Given the description of an element on the screen output the (x, y) to click on. 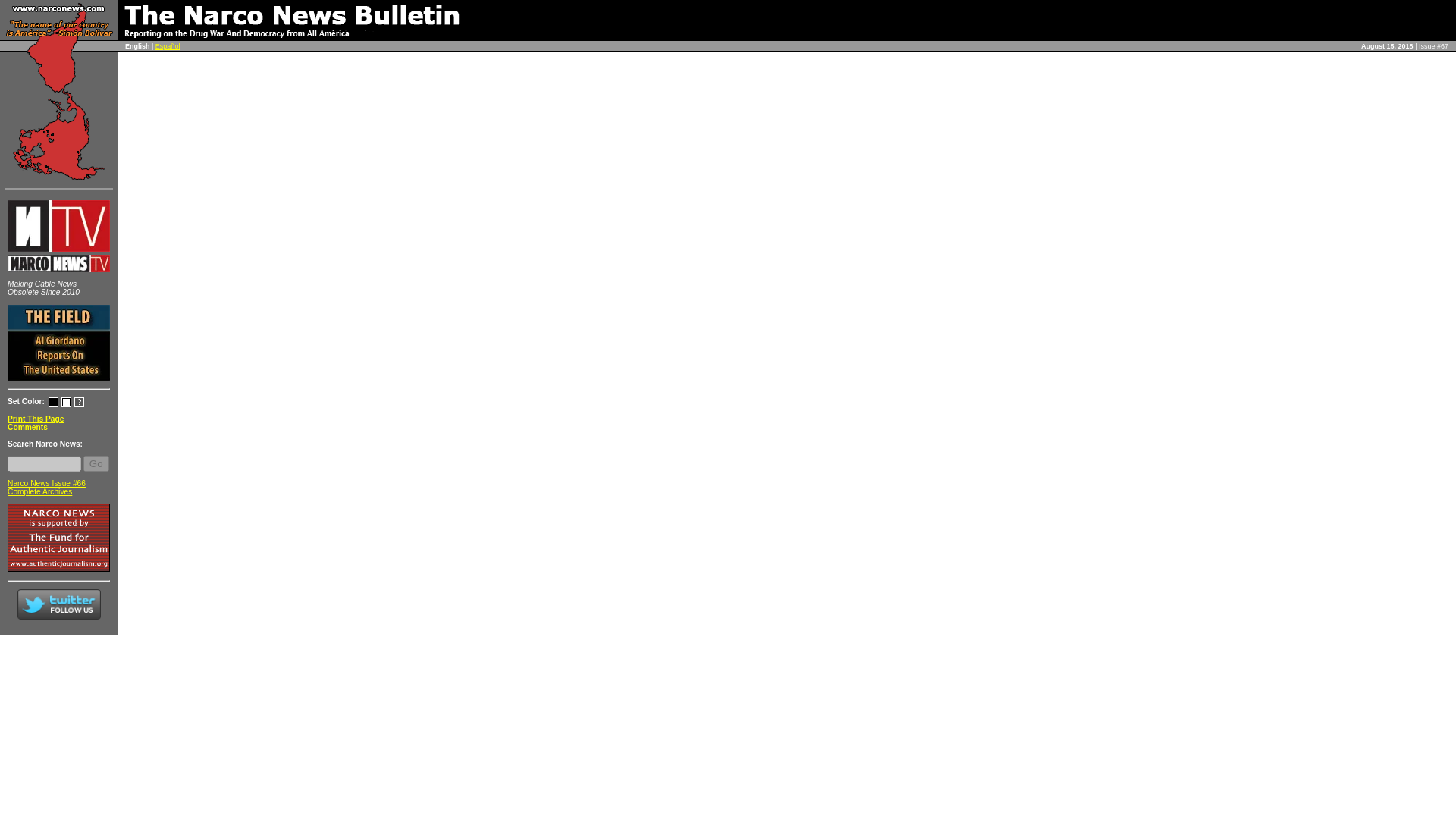
Go (95, 463)
Print This Page (35, 418)
Complete Archives (39, 491)
Comments (27, 427)
Go (95, 463)
